Given the description of an element on the screen output the (x, y) to click on. 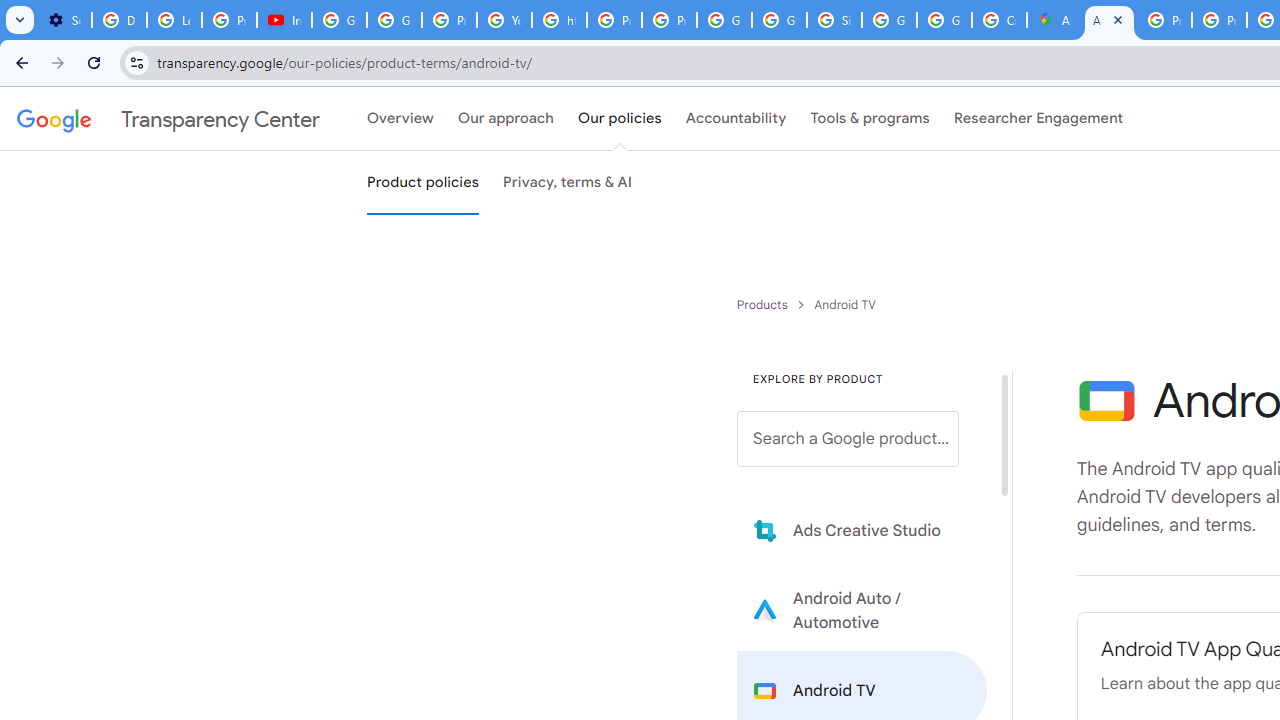
Product policies (763, 304)
Privacy Help Center - Policies Help (1218, 20)
Introduction | Google Privacy Policy - YouTube (284, 20)
Settings - Performance (64, 20)
Learn more about Android Auto (862, 610)
Transparency Center (167, 119)
Learn more about Ads Creative Studio (862, 530)
Privacy Help Center - Policies Help (614, 20)
